Given the description of an element on the screen output the (x, y) to click on. 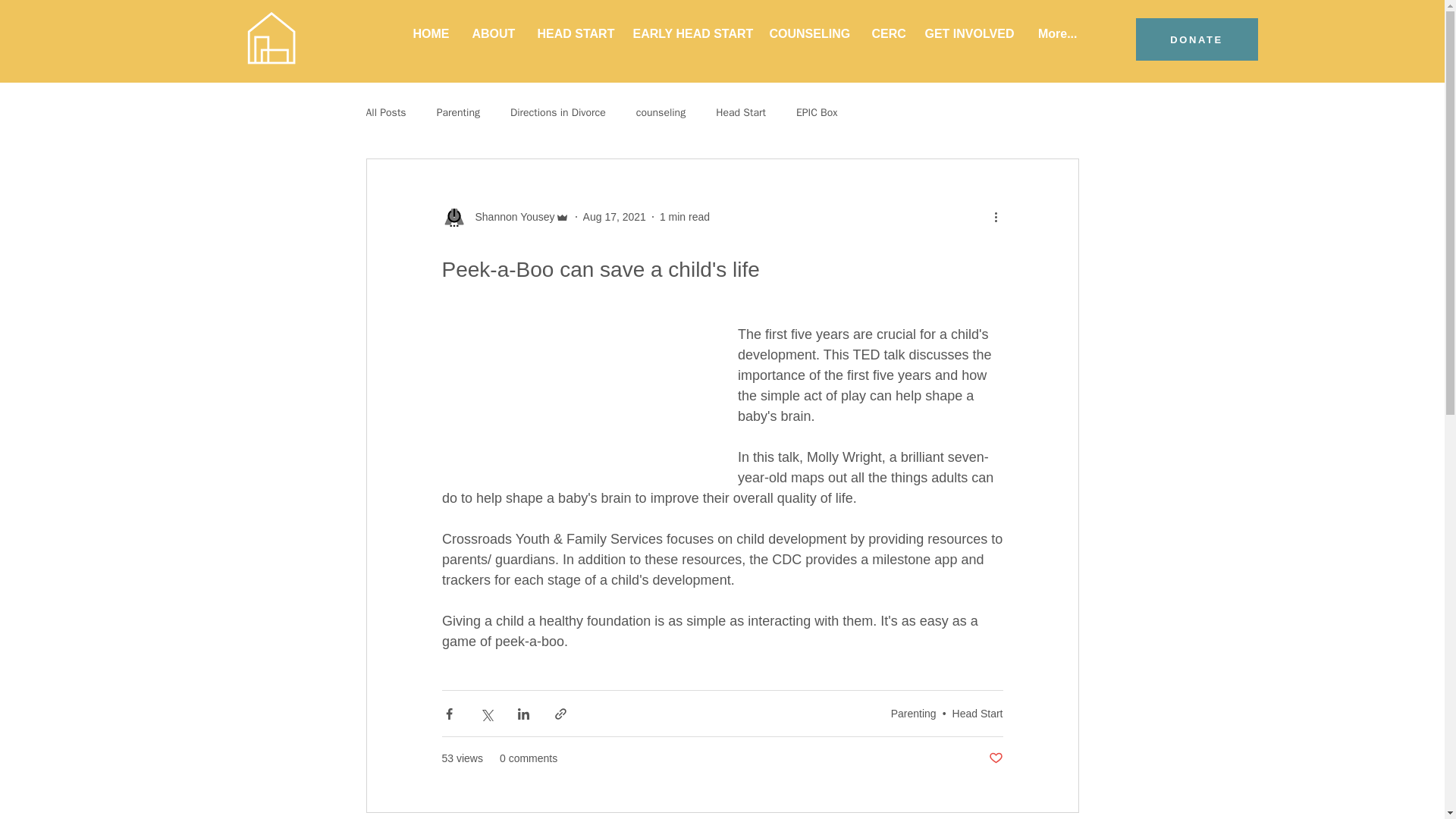
Directions in Divorce (558, 112)
EPIC Box (817, 112)
counseling (660, 112)
Shannon Yousey (509, 217)
Head Start (977, 712)
EARLY HEAD START (689, 33)
All Posts (385, 112)
HOME (430, 33)
ABOUT (493, 33)
Parenting (458, 112)
